Given the description of an element on the screen output the (x, y) to click on. 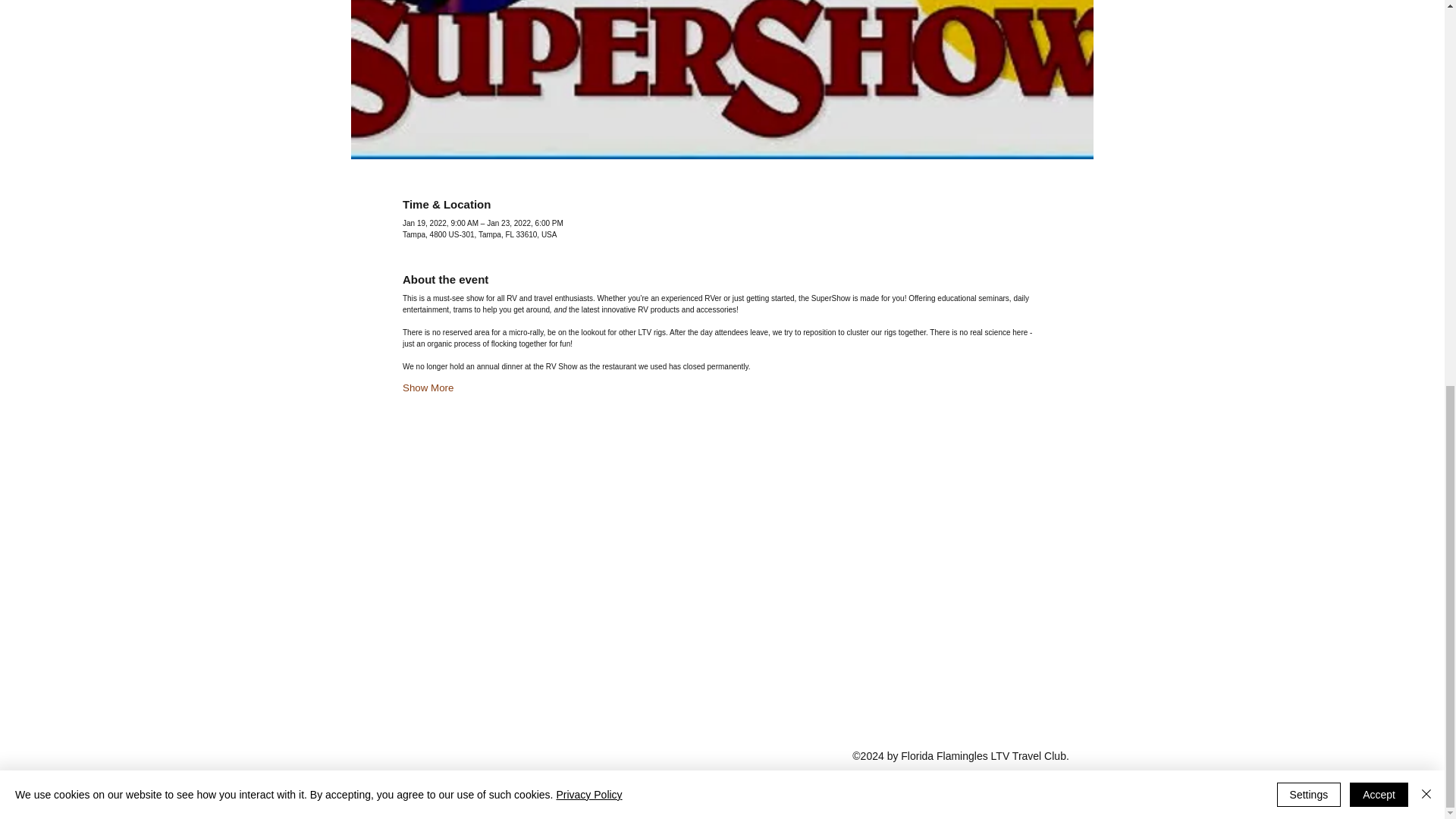
Settings (1308, 68)
Show More (427, 387)
Privacy Policy (588, 68)
Accept (1378, 68)
